Given the description of an element on the screen output the (x, y) to click on. 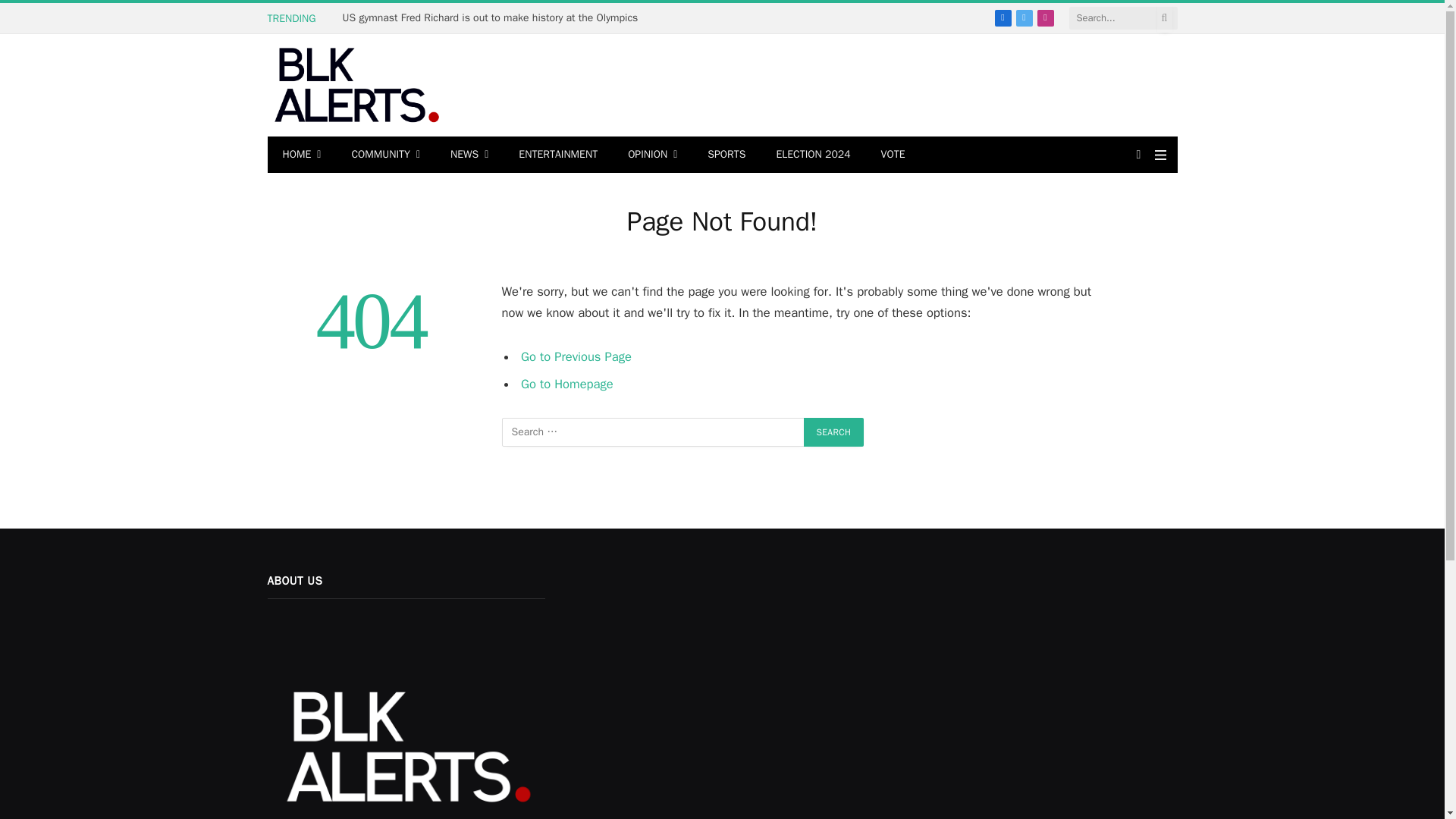
OPINION (652, 154)
Search (833, 431)
HOME (301, 154)
Facebook (1002, 17)
Instagram (1045, 17)
BLK ALERTS (354, 85)
Search (833, 431)
NEWS (469, 154)
Switch to Dark Design - easier on eyes. (1138, 154)
ENTERTAINMENT (557, 154)
COMMUNITY (385, 154)
